Given the description of an element on the screen output the (x, y) to click on. 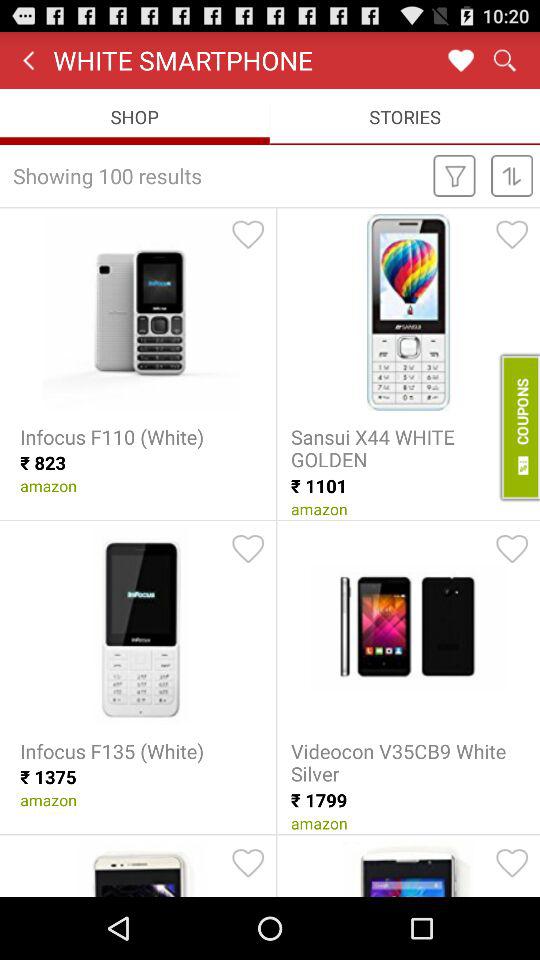
search button (504, 60)
